Given the description of an element on the screen output the (x, y) to click on. 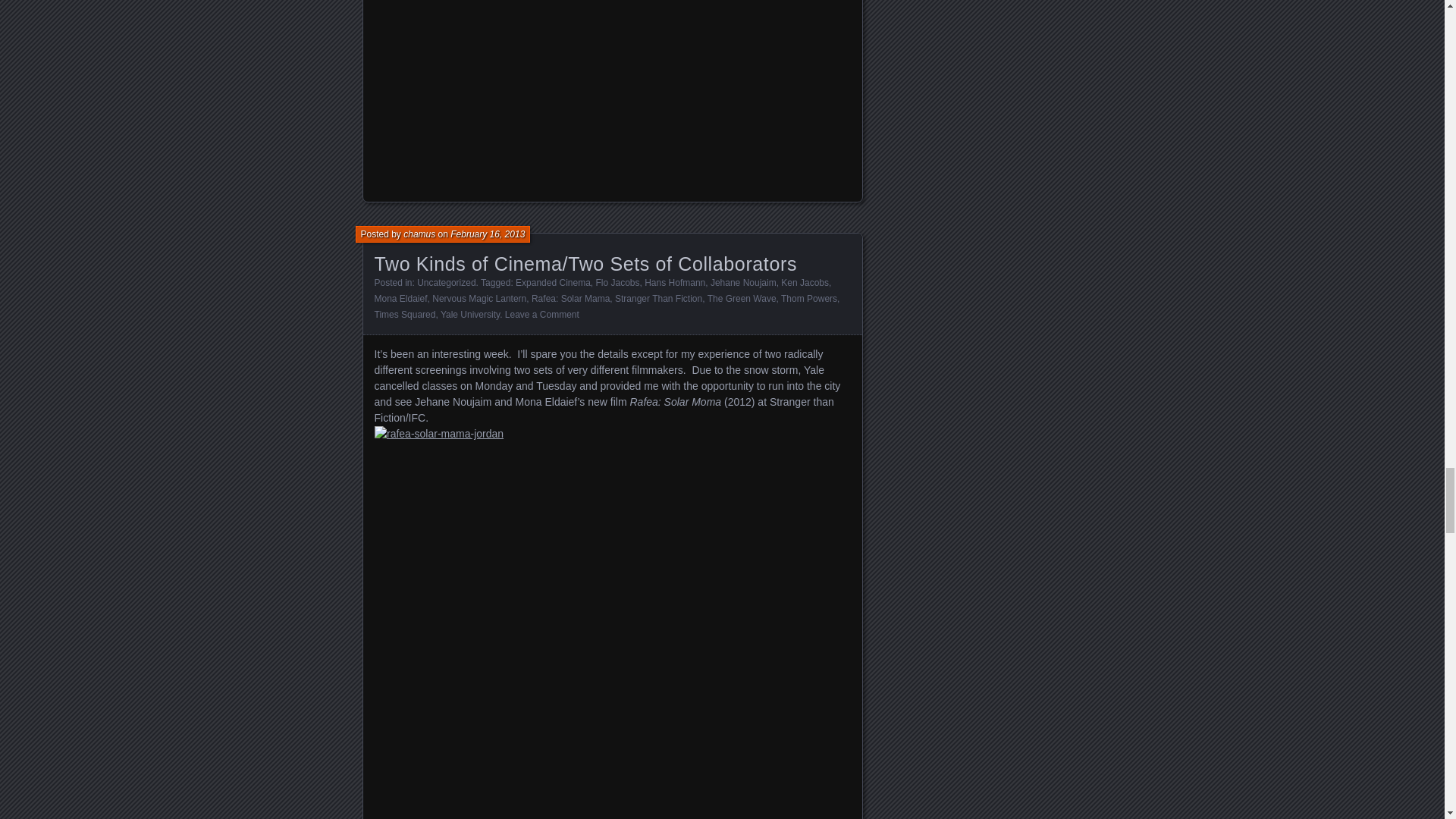
View all posts by chamus (419, 234)
